Given the description of an element on the screen output the (x, y) to click on. 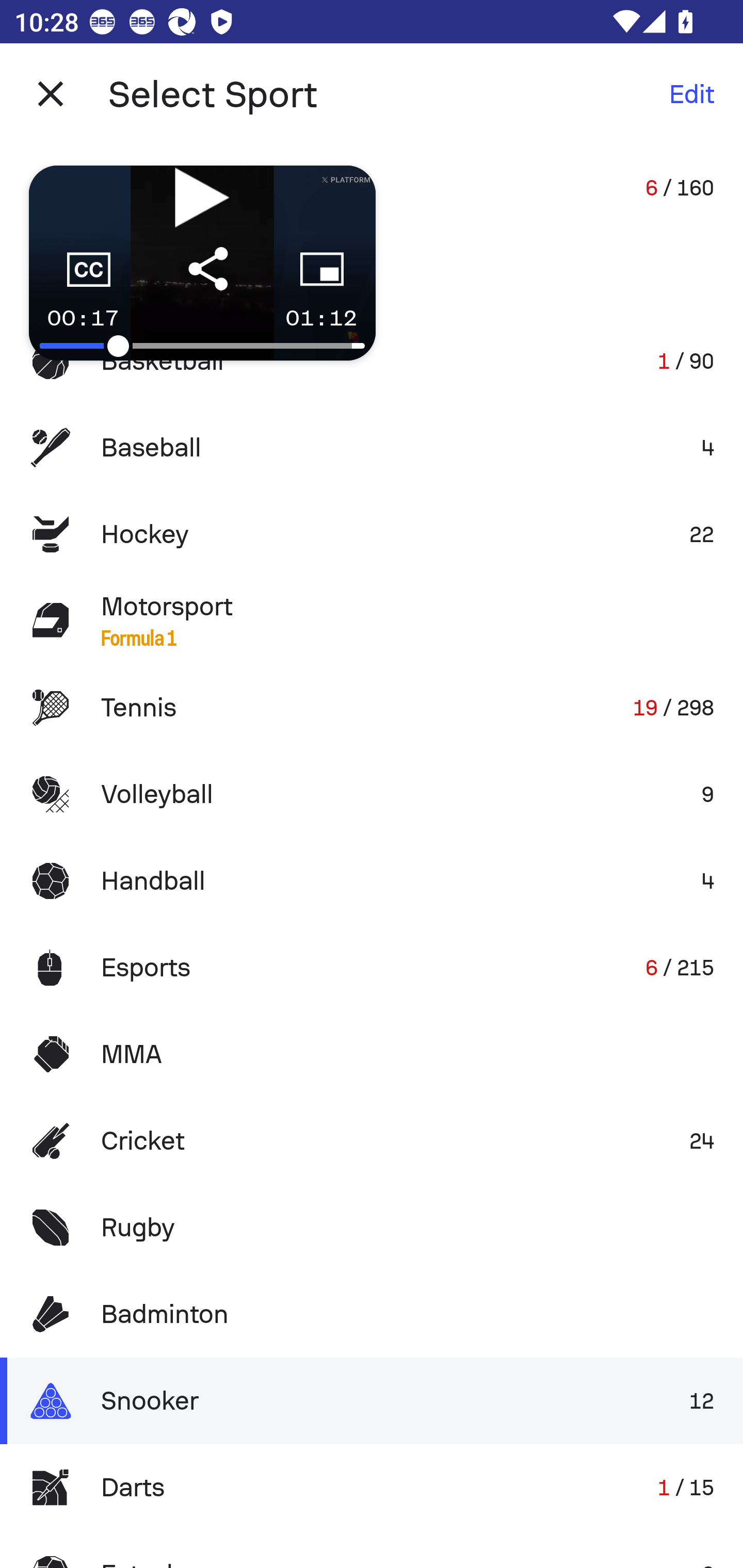
Edit (691, 93)
Baseball 4 (371, 447)
Hockey 22 (371, 533)
Motorsport Formula 1 (371, 620)
Tennis 19 / 298 (371, 707)
Volleyball 9 (371, 794)
Handball 4 (371, 880)
Esports 6 / 215 (371, 967)
MMA (371, 1054)
Cricket 24 (371, 1140)
Rugby (371, 1227)
Badminton (371, 1314)
Snooker 12 (371, 1400)
Darts 1 / 15 (371, 1487)
